Given the description of an element on the screen output the (x, y) to click on. 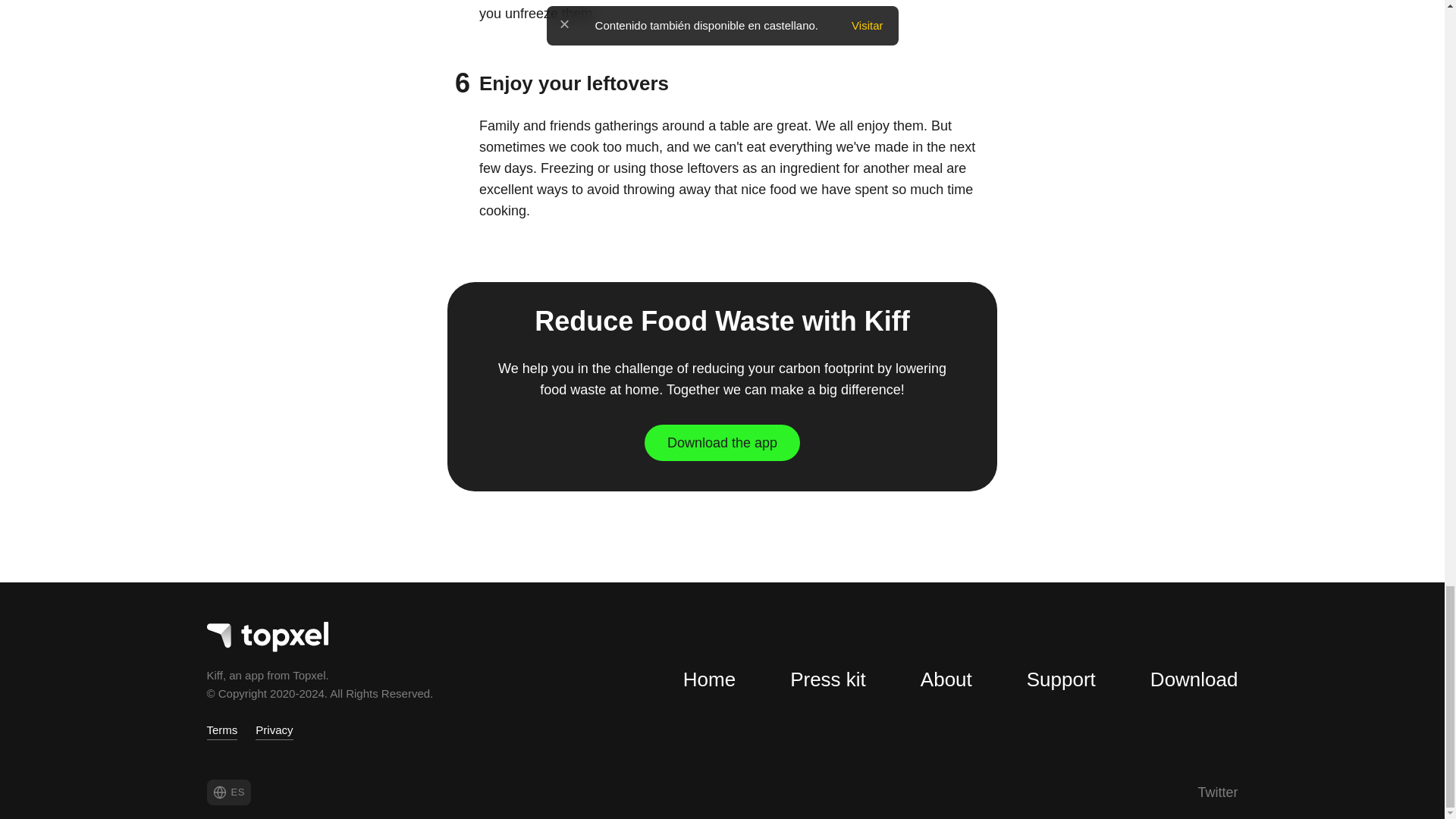
Support (1061, 679)
Download (1194, 679)
Download the app (722, 443)
Home (708, 679)
Privacy (274, 730)
Terms (221, 730)
Twitter (1216, 792)
ES (228, 792)
Press kit (828, 679)
About (946, 679)
